Given the description of an element on the screen output the (x, y) to click on. 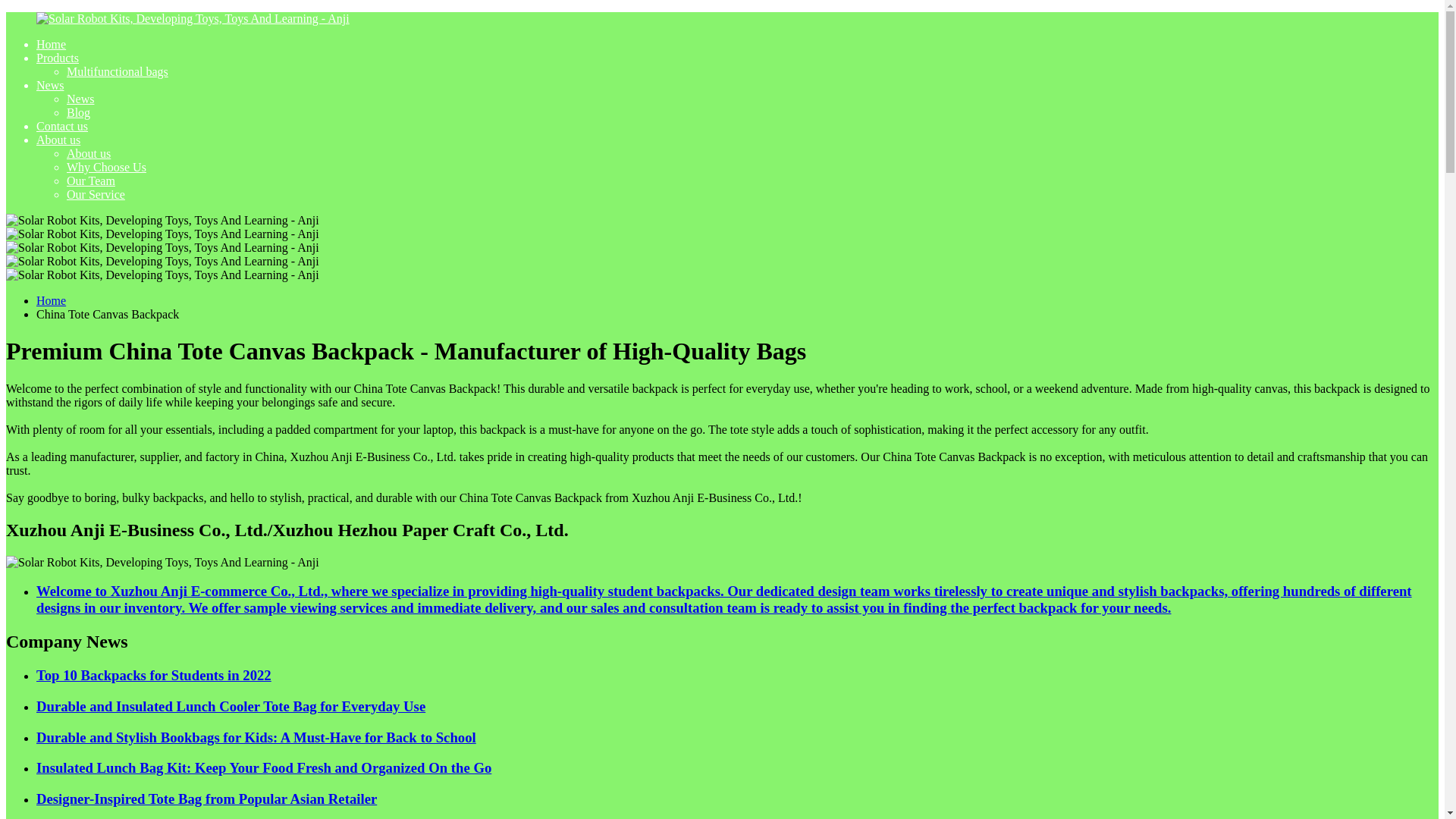
About us (88, 153)
About us (58, 139)
Contact us (61, 125)
Our Service (95, 194)
Why Choose Us (106, 166)
Multifunctional bags (117, 71)
Home (50, 300)
News (80, 98)
News (50, 84)
Products (57, 57)
Home (50, 43)
Our Team (90, 180)
Blog (78, 112)
